Given the description of an element on the screen output the (x, y) to click on. 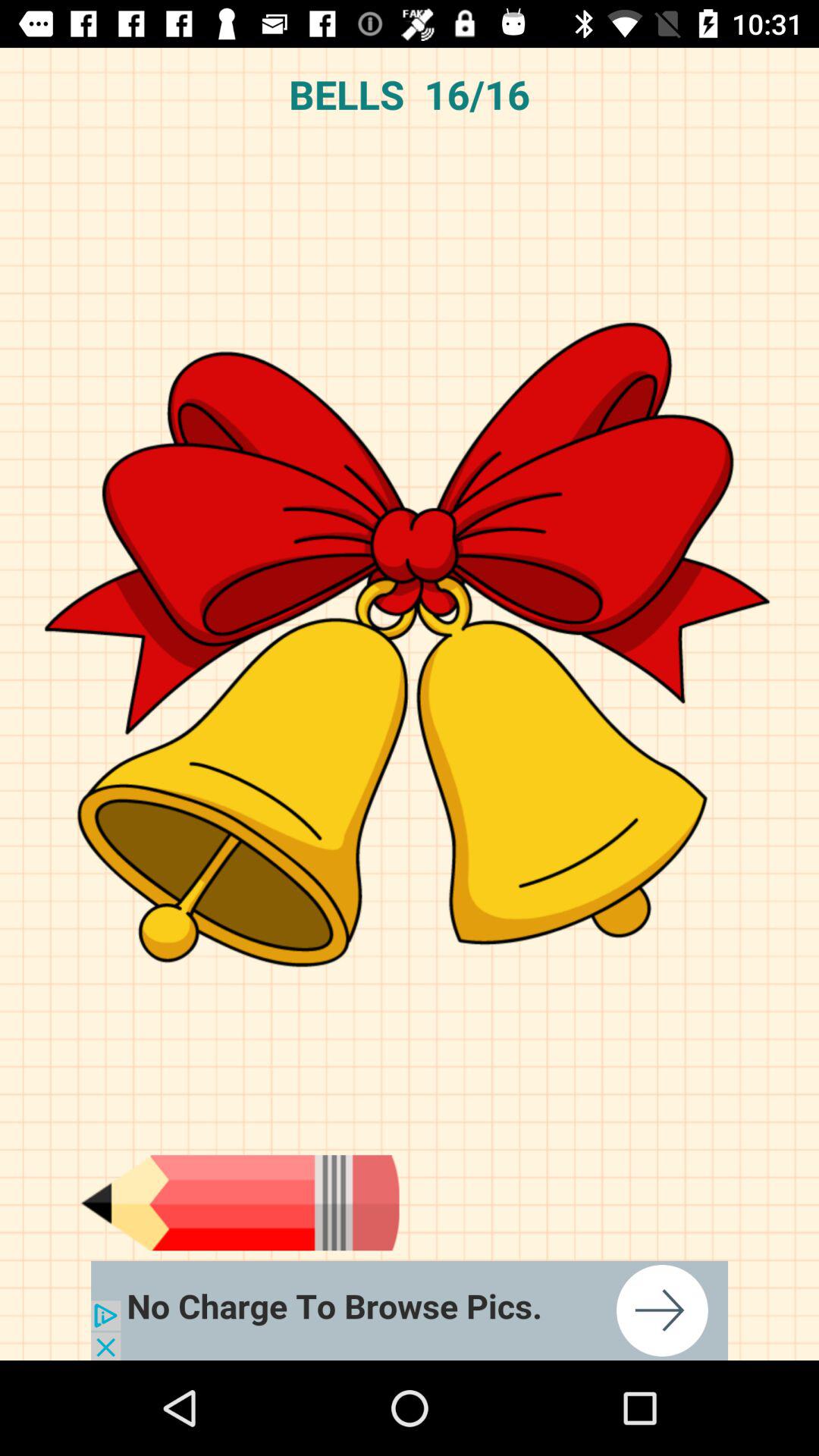
open advertisement (409, 1310)
